Given the description of an element on the screen output the (x, y) to click on. 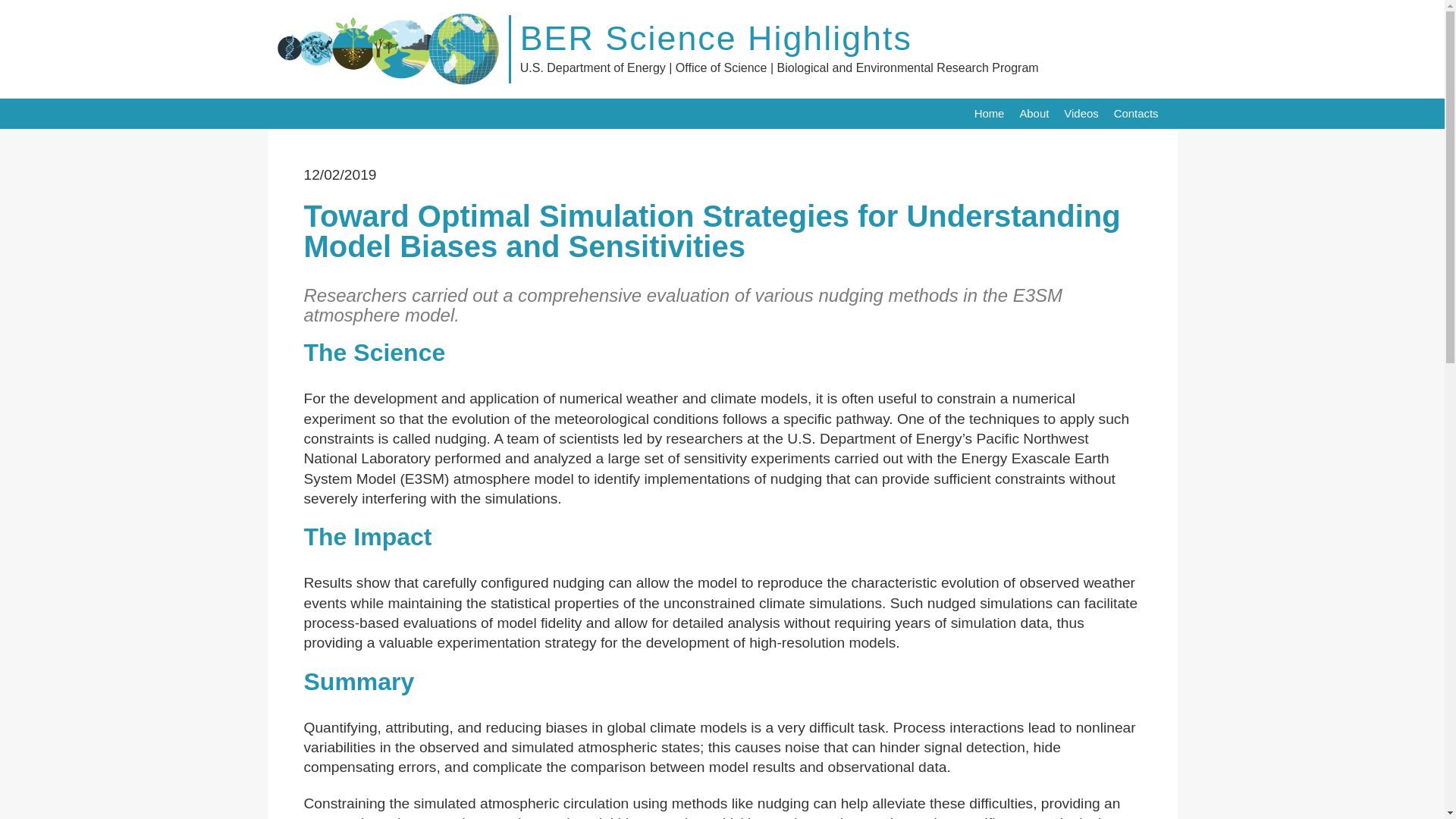
Home (988, 113)
About (1034, 113)
Videos (1081, 113)
Contacts (1136, 113)
